Given the description of an element on the screen output the (x, y) to click on. 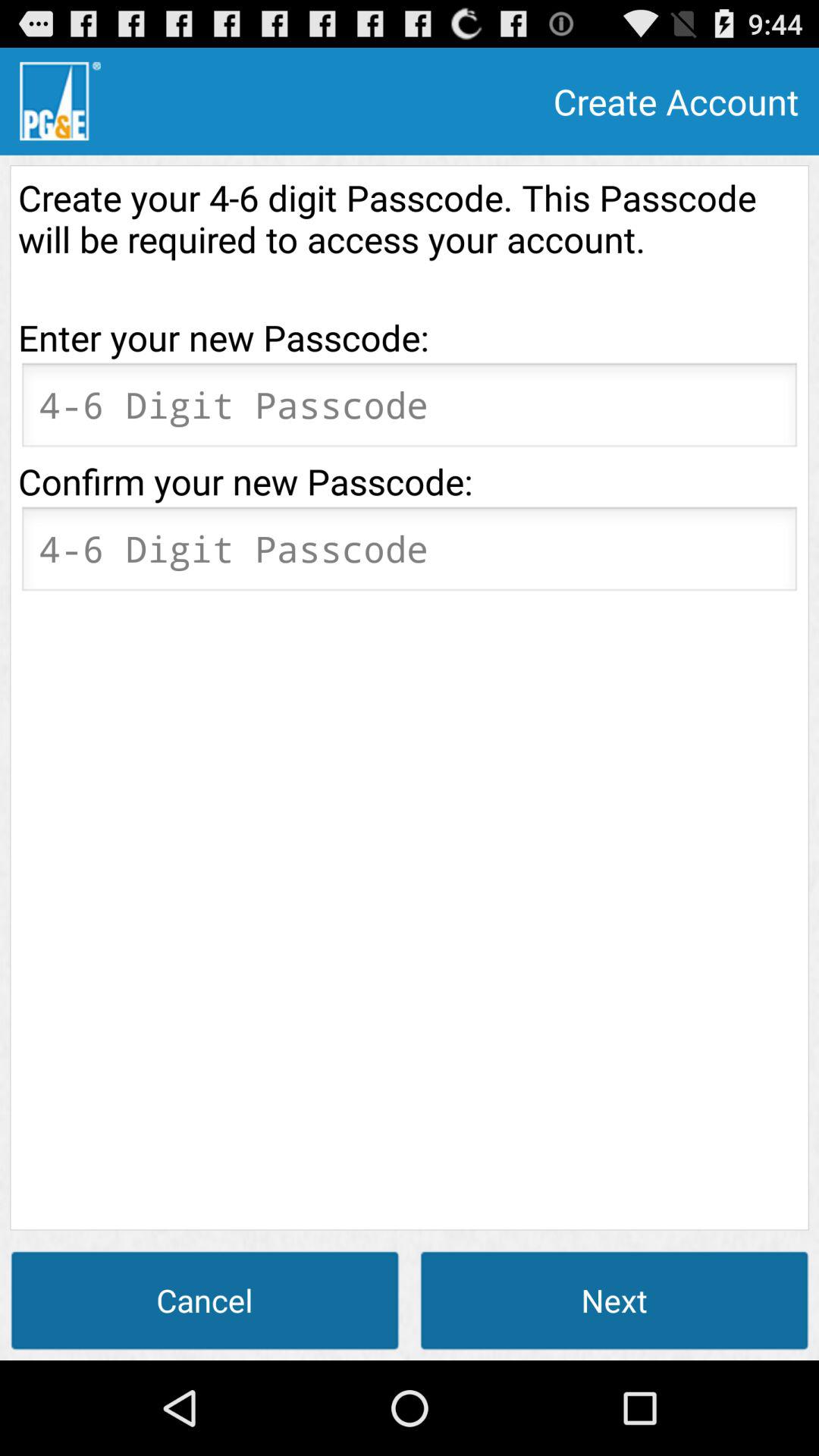
enter password (409, 409)
